Given the description of an element on the screen output the (x, y) to click on. 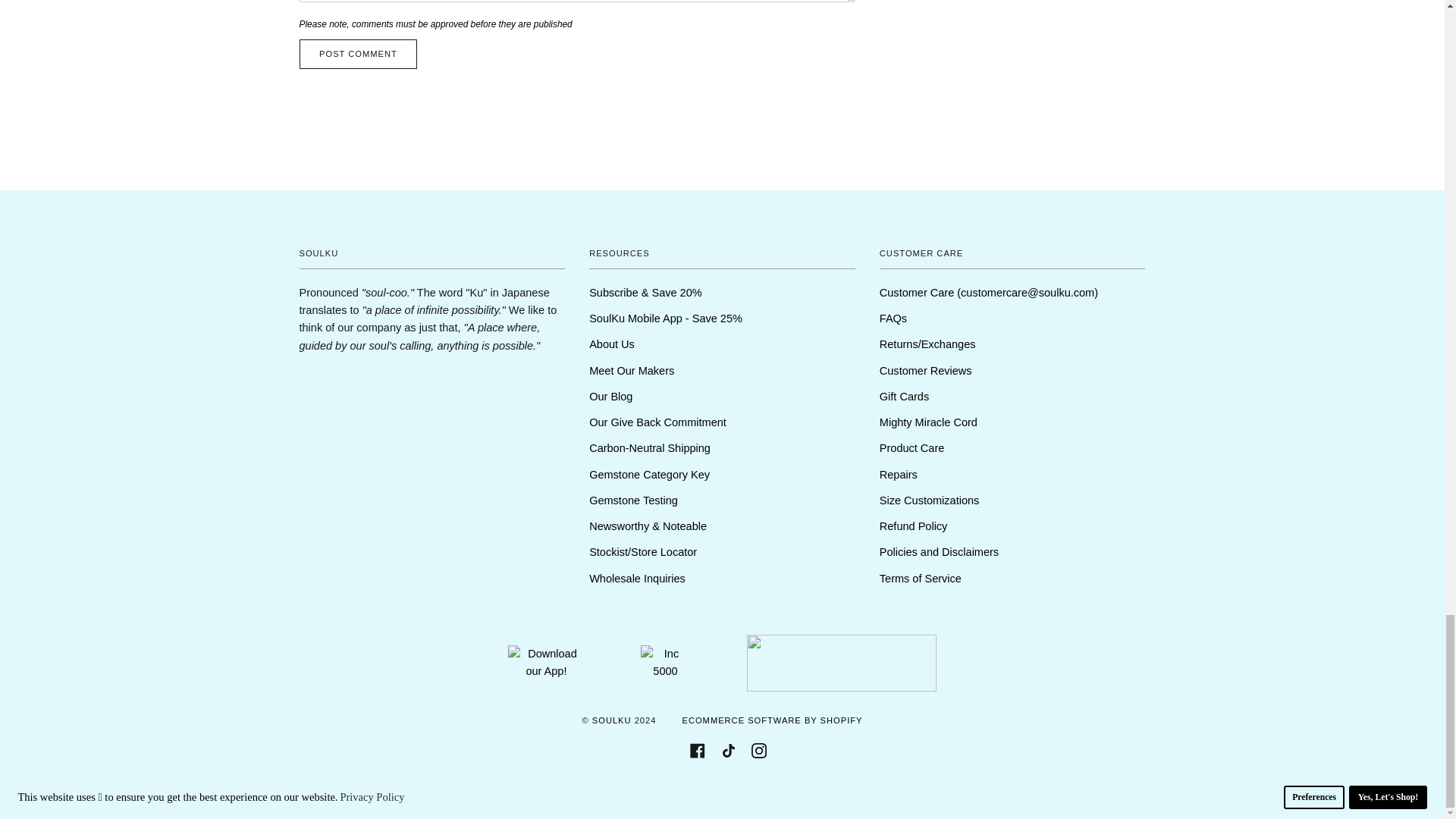
Tiktok (727, 749)
Instagram (759, 749)
GOOGLE PAY (722, 786)
AMERICAN EXPRESS (498, 786)
META PAY (676, 786)
PAYPAL (811, 786)
DISCOVER (633, 786)
Facebook (697, 749)
APPLE PAY (542, 786)
SHOP PAY (856, 786)
MASTERCARD (767, 786)
DINERS CLUB (588, 786)
VENMO (901, 786)
